Given the description of an element on the screen output the (x, y) to click on. 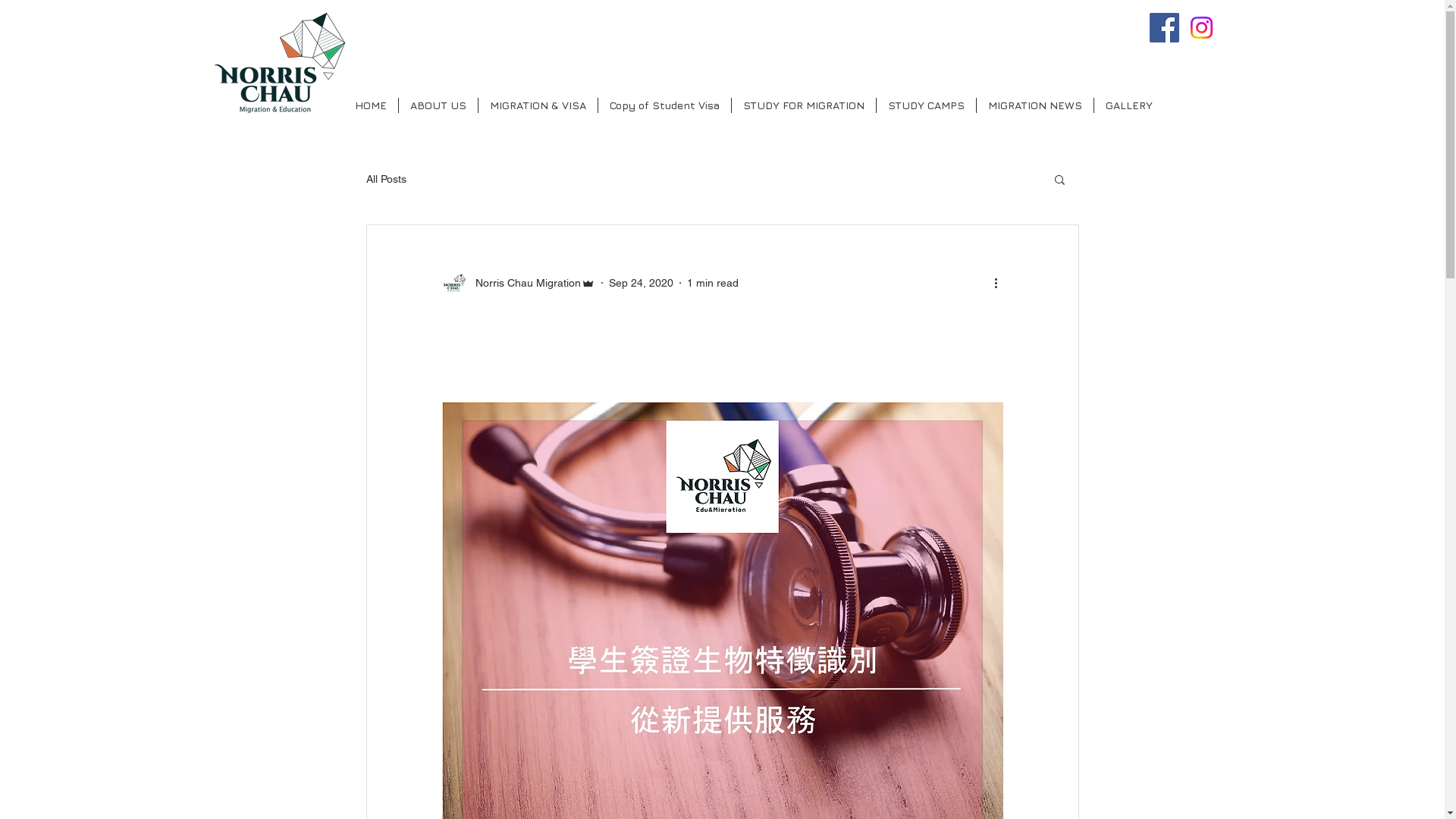
STUDY CAMPS Element type: text (925, 104)
STUDY FOR MIGRATION Element type: text (803, 104)
Copy of Student Visa Element type: text (663, 104)
All Posts Element type: text (385, 178)
ABOUT US Element type: text (437, 104)
MIGRATION & VISA Element type: text (536, 104)
MIGRATION NEWS Element type: text (1034, 104)
HOME Element type: text (369, 104)
GALLERY Element type: text (1128, 104)
